Given the description of an element on the screen output the (x, y) to click on. 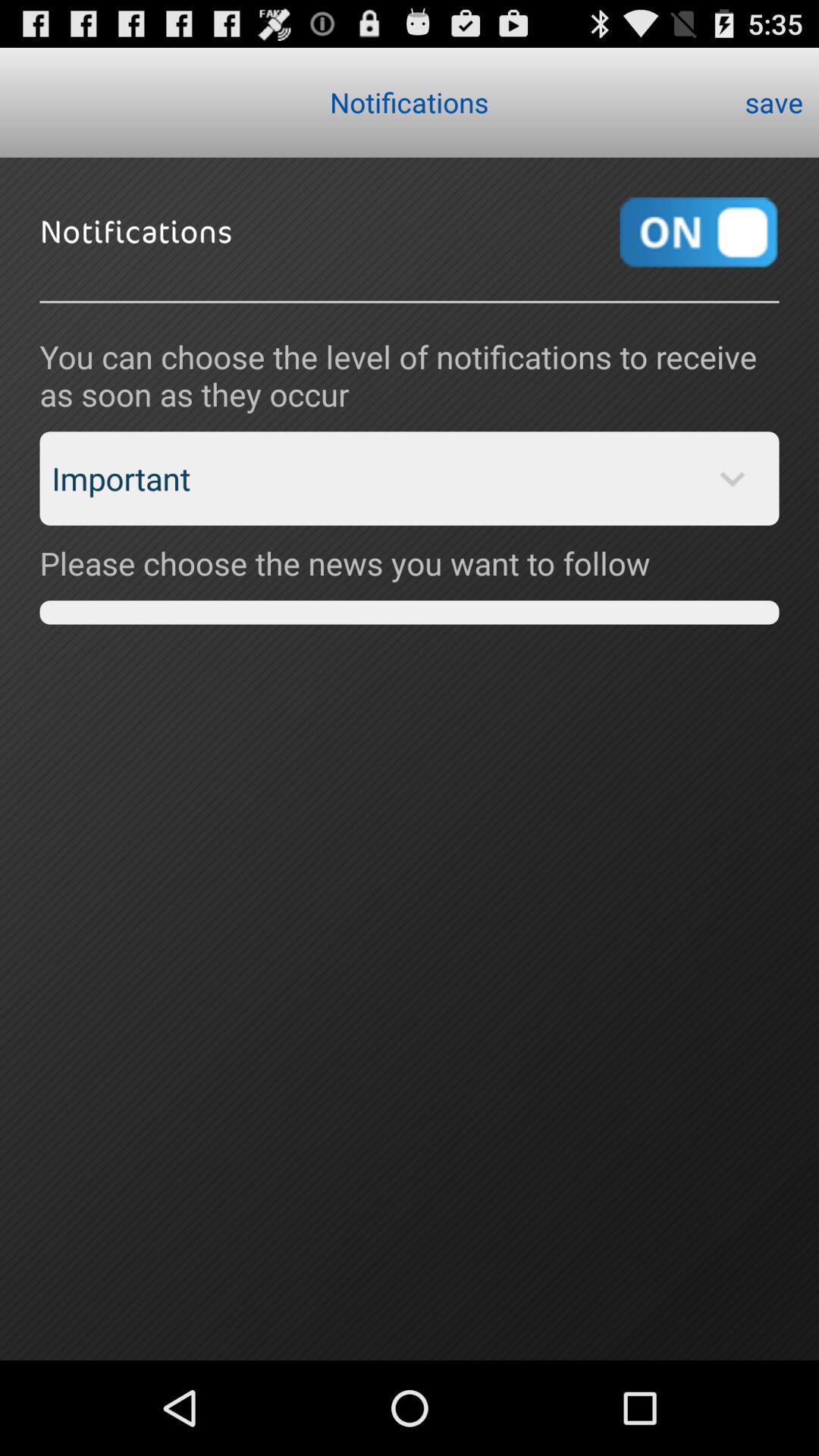
click the important item (409, 478)
